Given the description of an element on the screen output the (x, y) to click on. 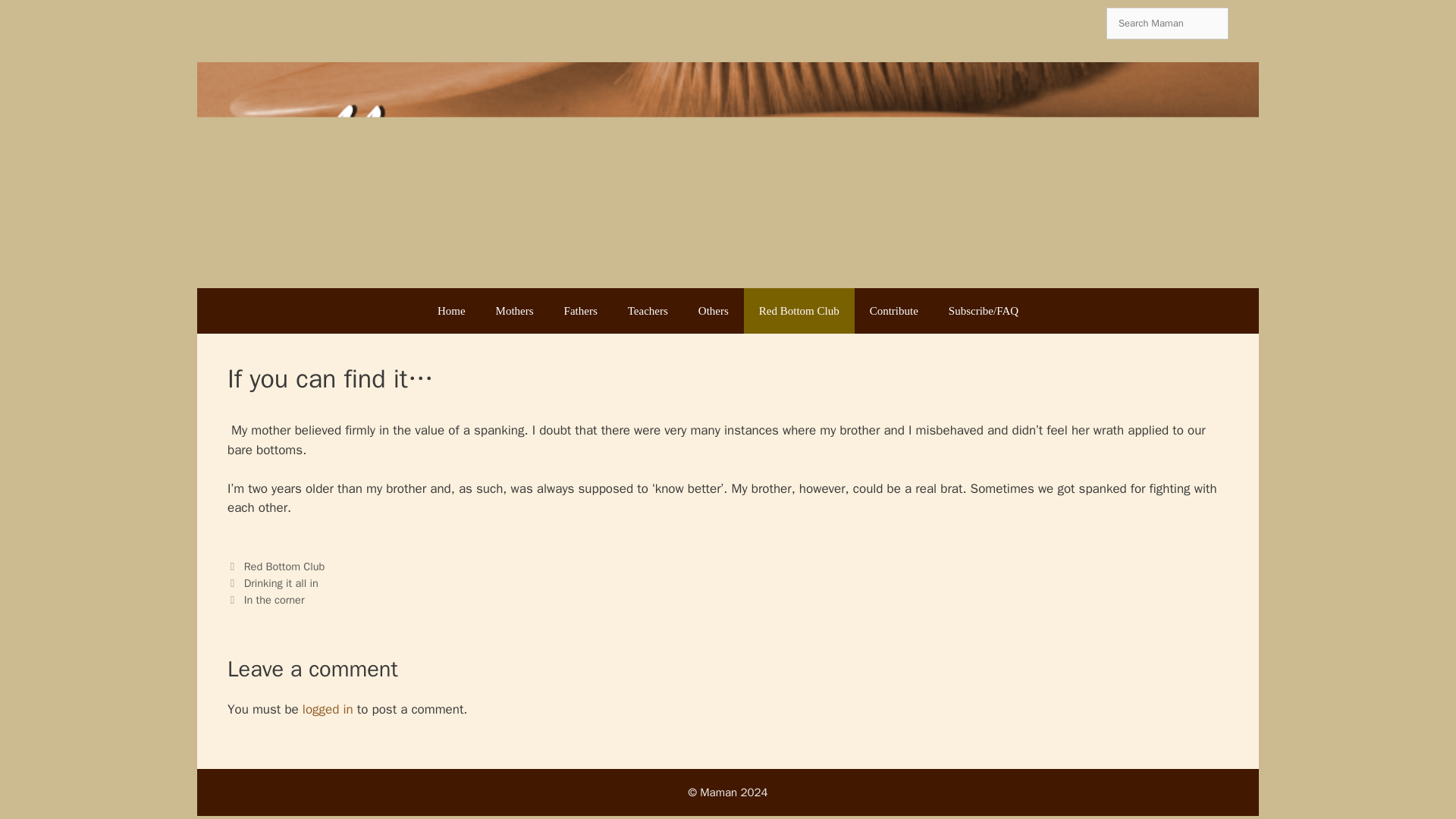
Drinking it all in (281, 582)
Red Bottom Club (799, 310)
Red Bottom Club (284, 566)
Fathers (580, 310)
Search for: (1167, 23)
Others (713, 310)
Home (451, 310)
Contribute (893, 310)
In the corner (274, 599)
Teachers (647, 310)
